Given the description of an element on the screen output the (x, y) to click on. 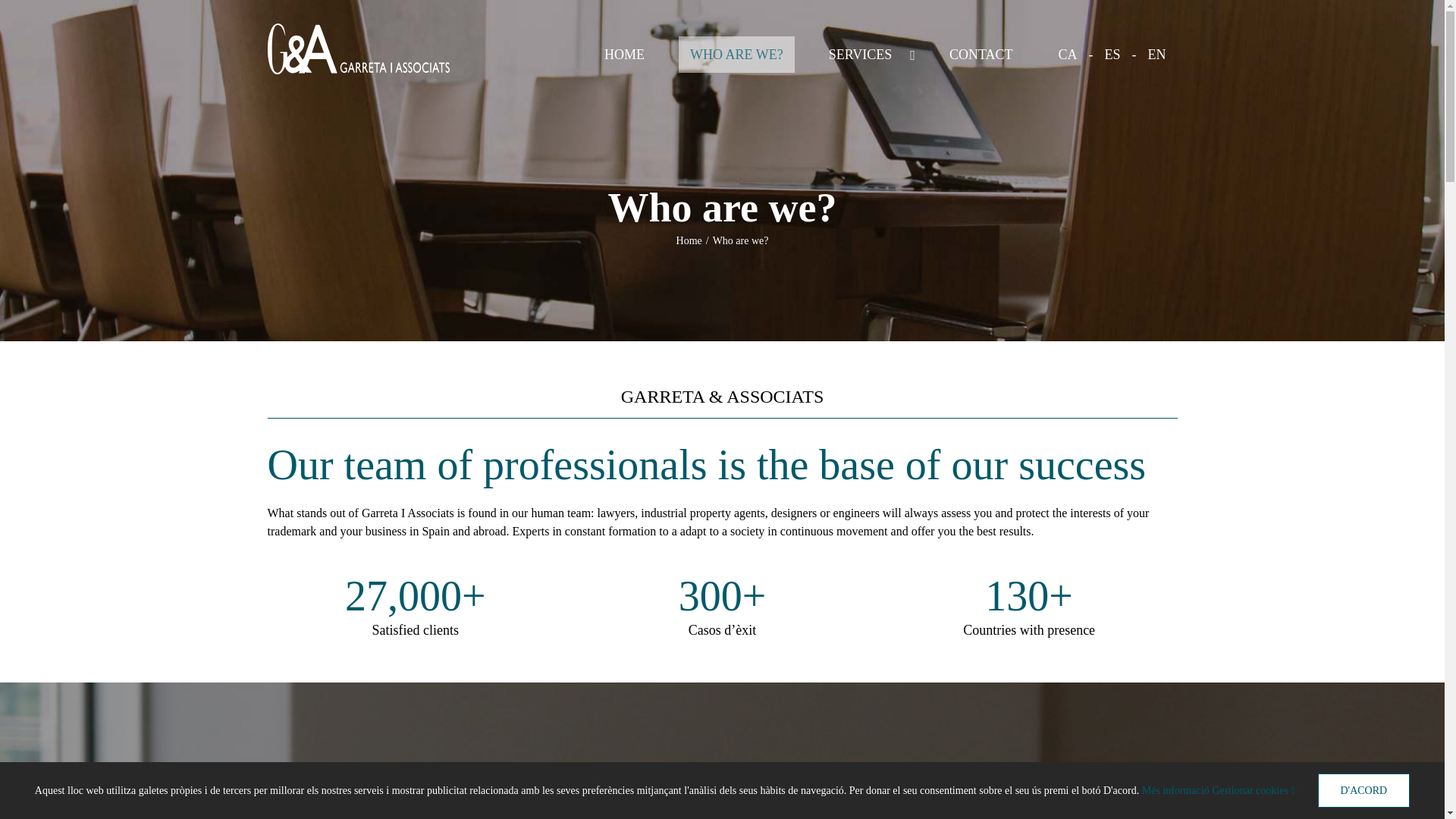
WHO ARE WE? (736, 54)
SERVICES (865, 54)
